Given the description of an element on the screen output the (x, y) to click on. 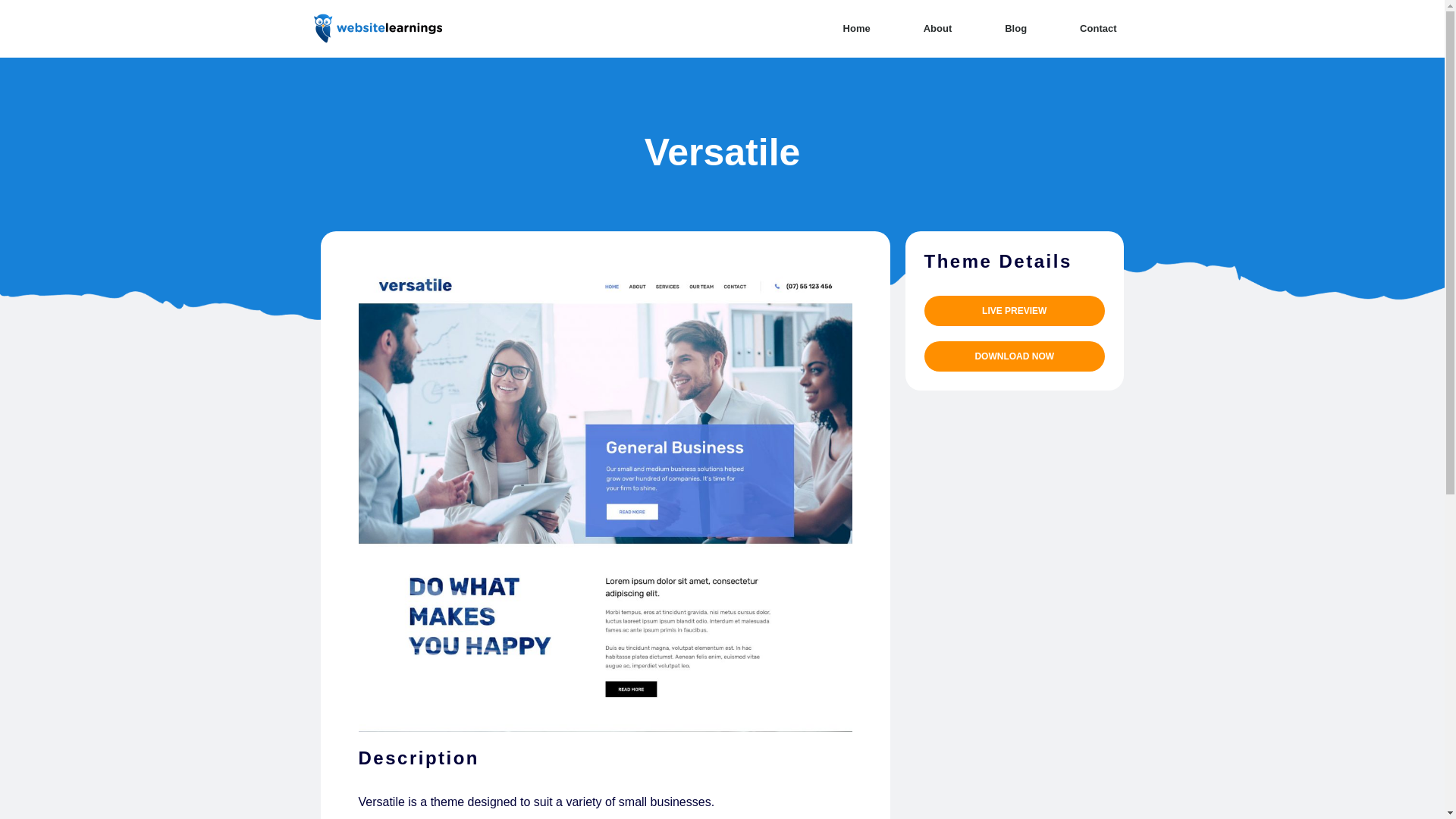
Home (856, 28)
DOWNLOAD NOW (1014, 356)
Contact (1097, 28)
About (938, 28)
Blog (1016, 28)
LIVE PREVIEW (1014, 310)
